Given the description of an element on the screen output the (x, y) to click on. 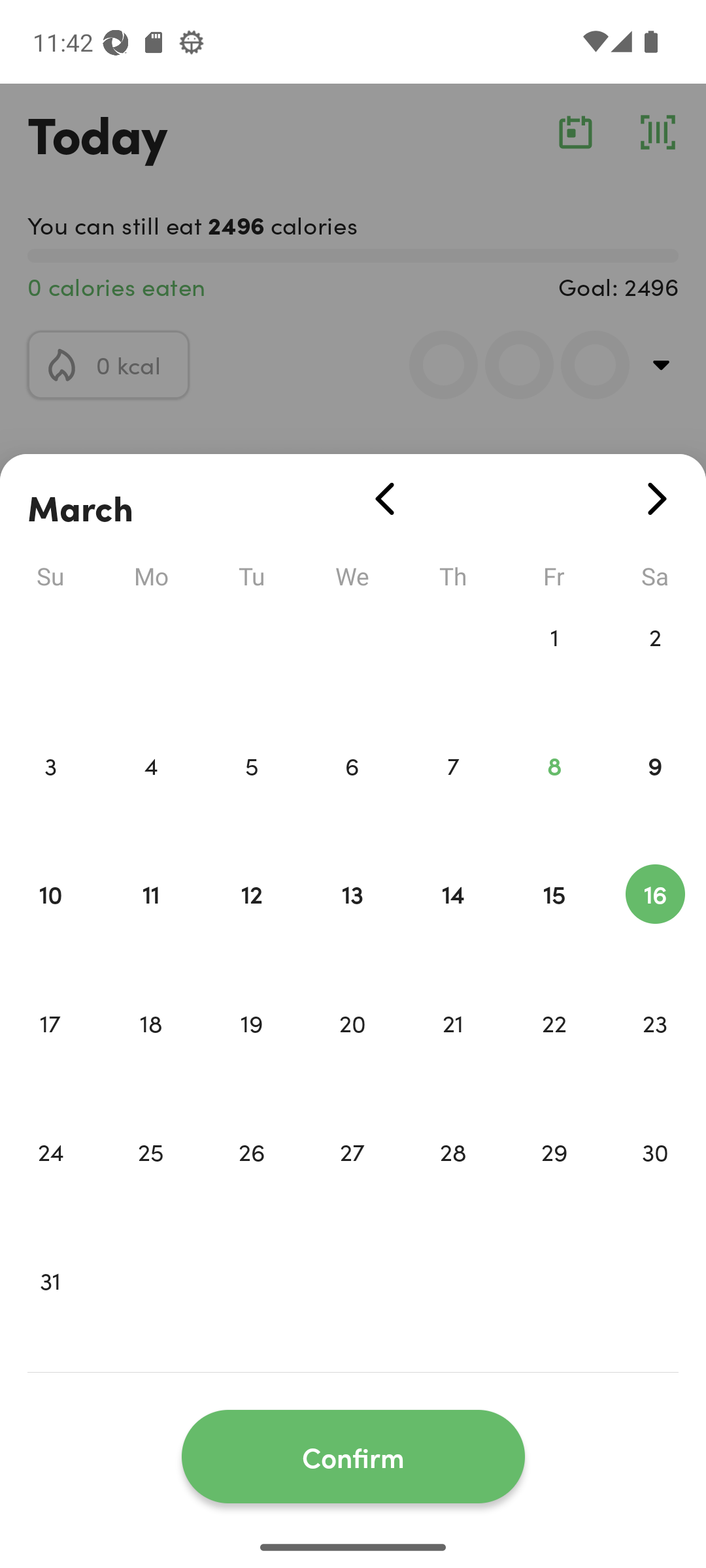
1 (554, 663)
2 (655, 663)
3 (50, 793)
4 (150, 793)
5 (251, 793)
6 (352, 793)
7 (453, 793)
8 (554, 793)
9 (655, 793)
10 (50, 921)
11 (150, 921)
12 (251, 921)
13 (352, 921)
14 (453, 921)
15 (554, 921)
16 (655, 921)
17 (50, 1050)
18 (150, 1050)
19 (251, 1050)
20 (352, 1050)
21 (453, 1050)
22 (554, 1050)
23 (655, 1050)
24 (50, 1178)
25 (150, 1178)
26 (251, 1178)
27 (352, 1178)
28 (453, 1178)
29 (554, 1178)
30 (655, 1178)
31 (50, 1307)
Confirm (353, 1456)
